Given the description of an element on the screen output the (x, y) to click on. 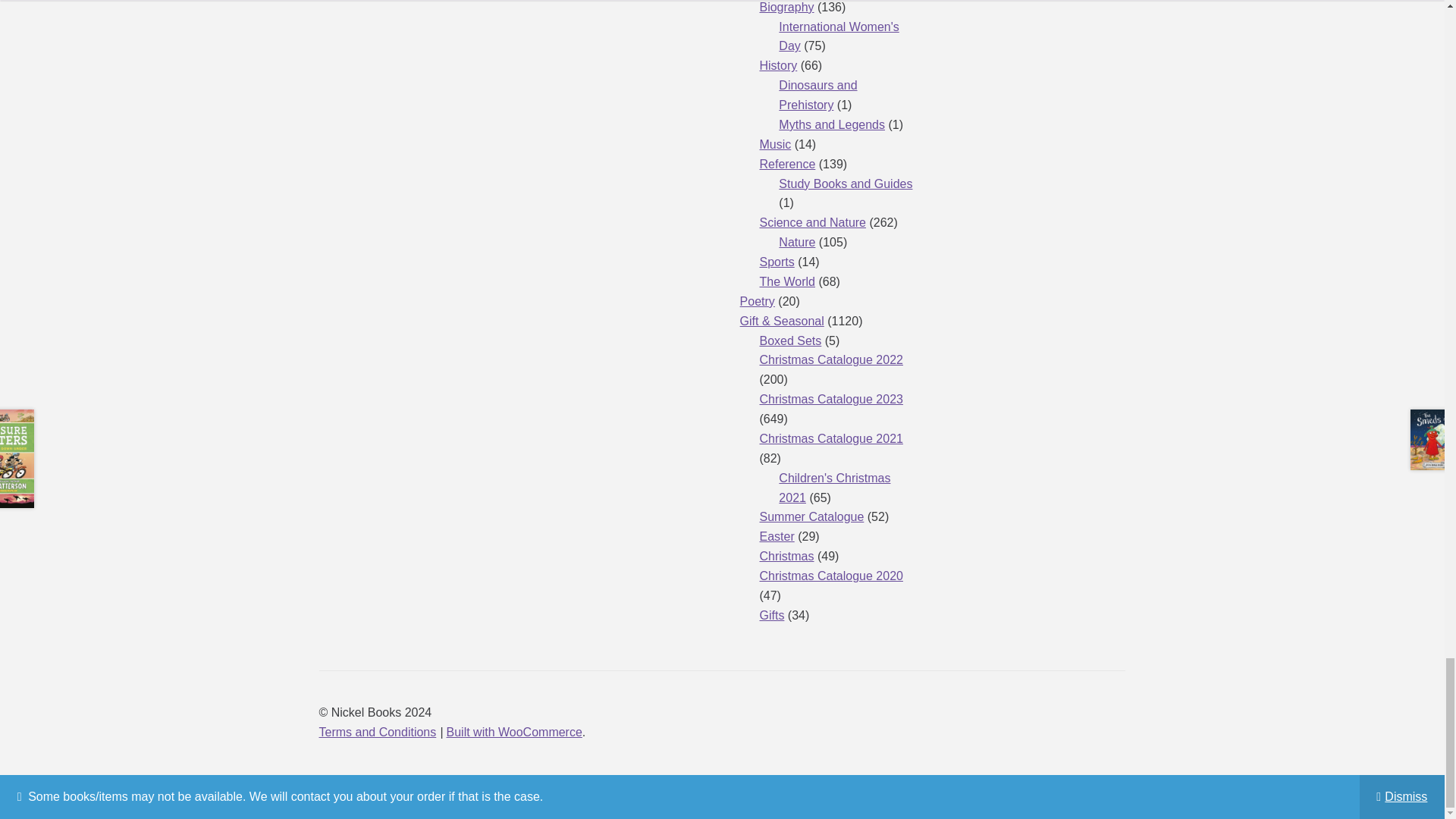
WooCommerce - The Best eCommerce Platform for WordPress (514, 731)
